Given the description of an element on the screen output the (x, y) to click on. 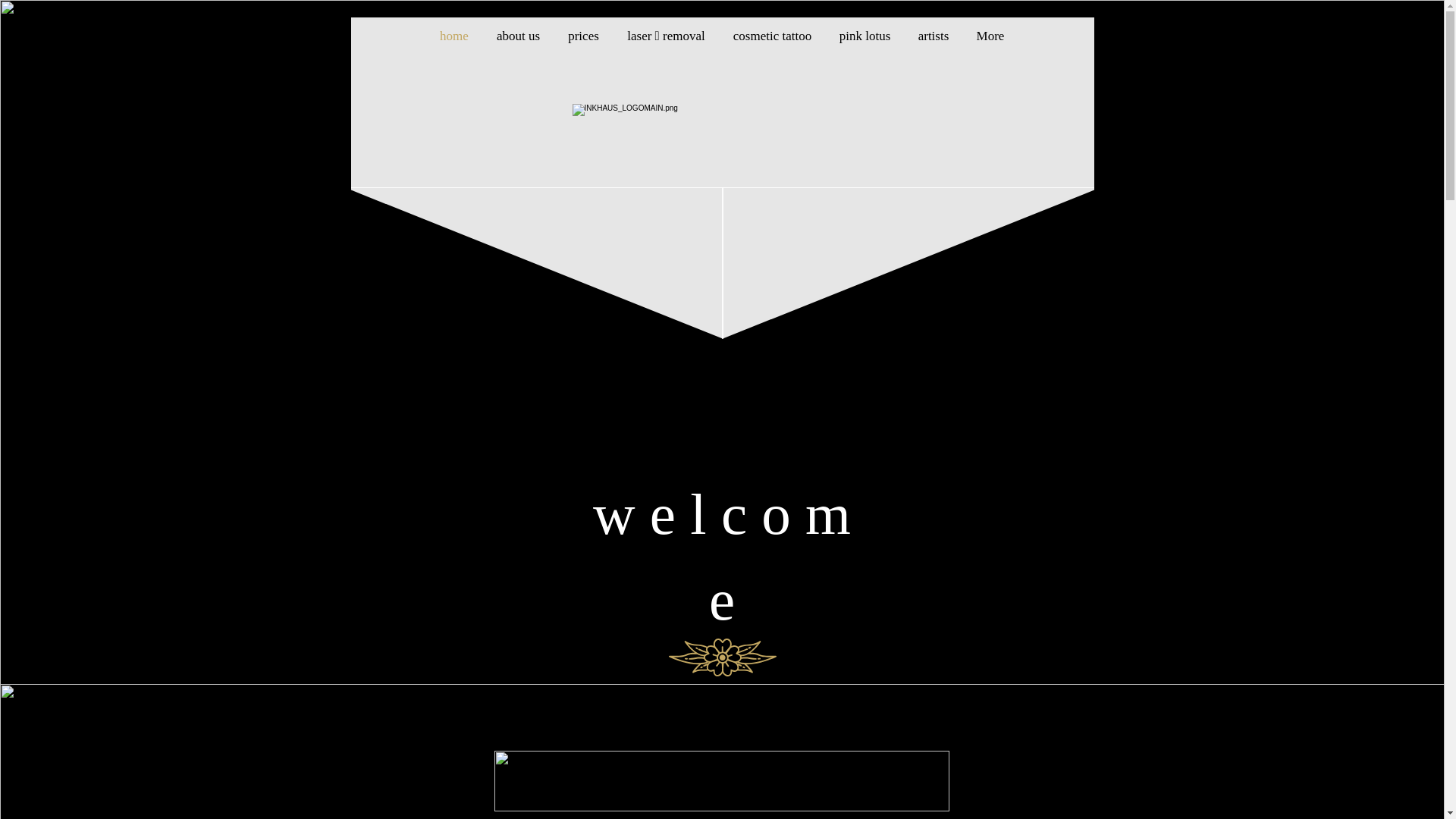
artists Element type: text (932, 36)
ourcreativespace.png Element type: hover (721, 780)
cosmetic tattoo Element type: text (771, 36)
pink lotus Element type: text (864, 36)
home Element type: text (454, 36)
about us Element type: text (517, 36)
prices Element type: text (582, 36)
